Given the description of an element on the screen output the (x, y) to click on. 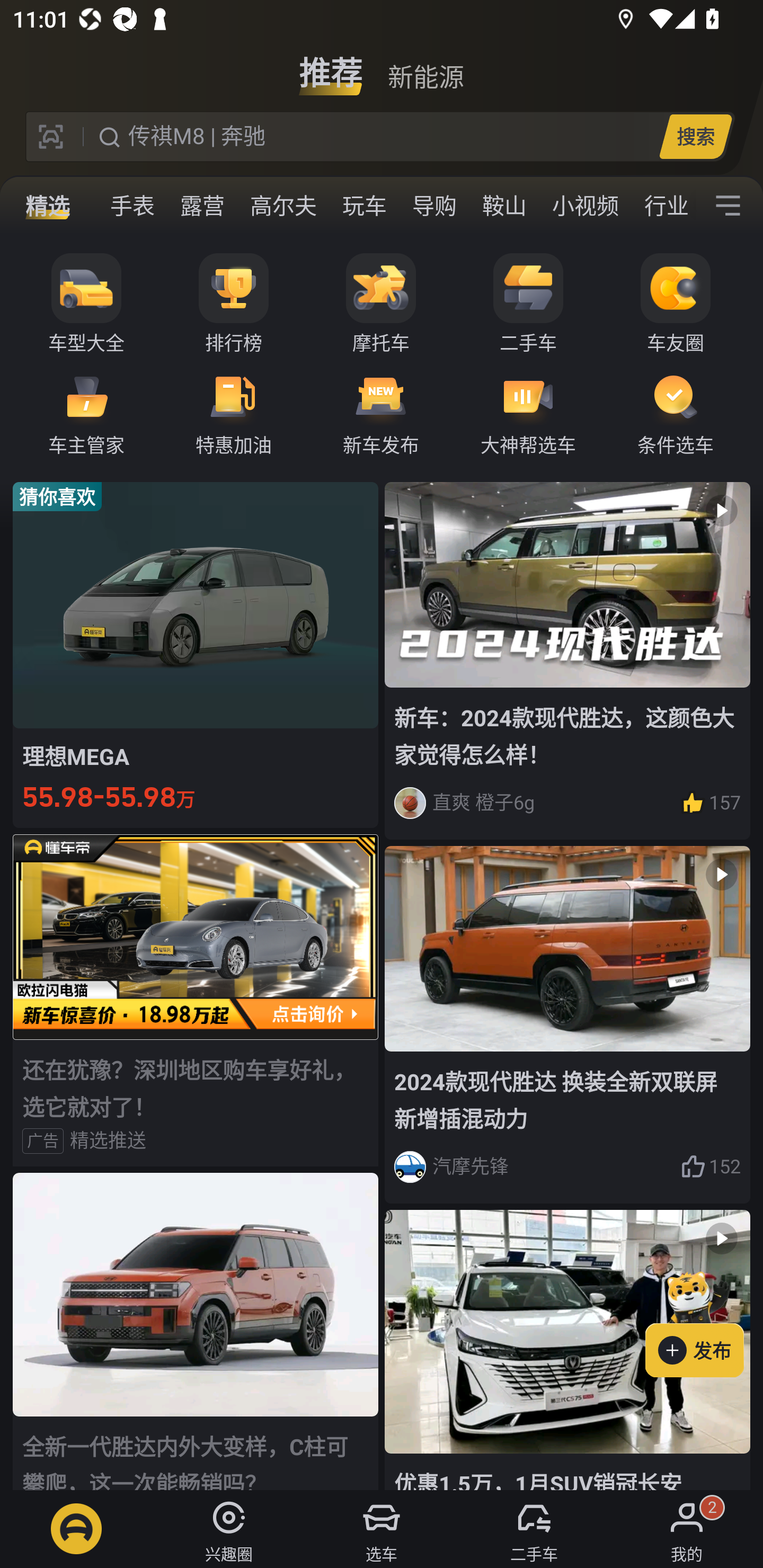
推荐 (330, 65)
新能源 (425, 65)
搜索 (695, 136)
原创 (62, 205)
手表 (132, 205)
露营 (202, 205)
高尔夫 (283, 205)
玩车 (364, 205)
导购 (434, 205)
鞍山 (504, 205)
小视频 (585, 205)
行业 (663, 205)
 (727, 205)
车型大全 (86, 303)
排行榜 (233, 303)
摩托车 (380, 303)
二手车 (528, 303)
车友圈 (675, 303)
车主管家 (86, 412)
特惠加油 (233, 412)
新车发布 (380, 412)
大神帮选车 (528, 412)
条件选车 (675, 412)
猜你喜欢 理想MEGA 55.98-55.98万 (195, 654)
 新车：2024款现代胜达，这颜色大家觉得怎么样！ 直爽 橙子6g 157 (567, 659)
157 (710, 802)
还在犹豫？深圳地区购车享好礼，选它就对了！ 广告 精选推送 (195, 1000)
 2024款现代胜达 换装全新双联屏 新增插混动力 汽摩先锋 152 (567, 1025)
152 (710, 1166)
全新一代胜达内外大变样，C柱可攀爬，这一次能畅销吗？ (195, 1330)
 优惠1.5万，1月SUV销冠长安CS75PLUS为何值得买？性价比是亮点！ (567, 1349)
发布 (704, 1320)
 兴趣圈 (228, 1528)
 选车 (381, 1528)
 二手车 (533, 1528)
 我的 (686, 1528)
